Given the description of an element on the screen output the (x, y) to click on. 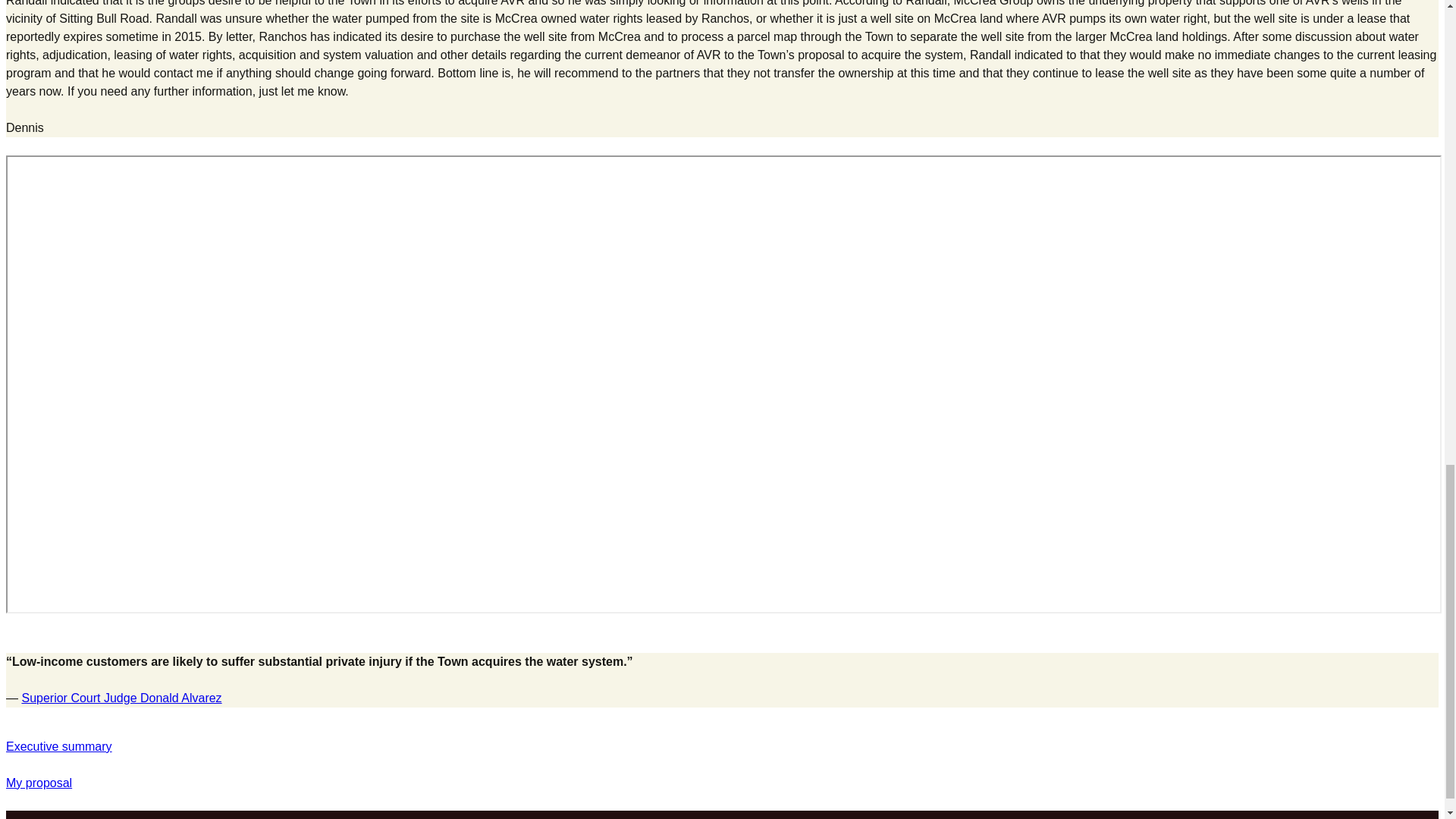
Executive summary (58, 746)
My proposal (38, 782)
Superior Court Judge Donald Alvarez (121, 697)
